Given the description of an element on the screen output the (x, y) to click on. 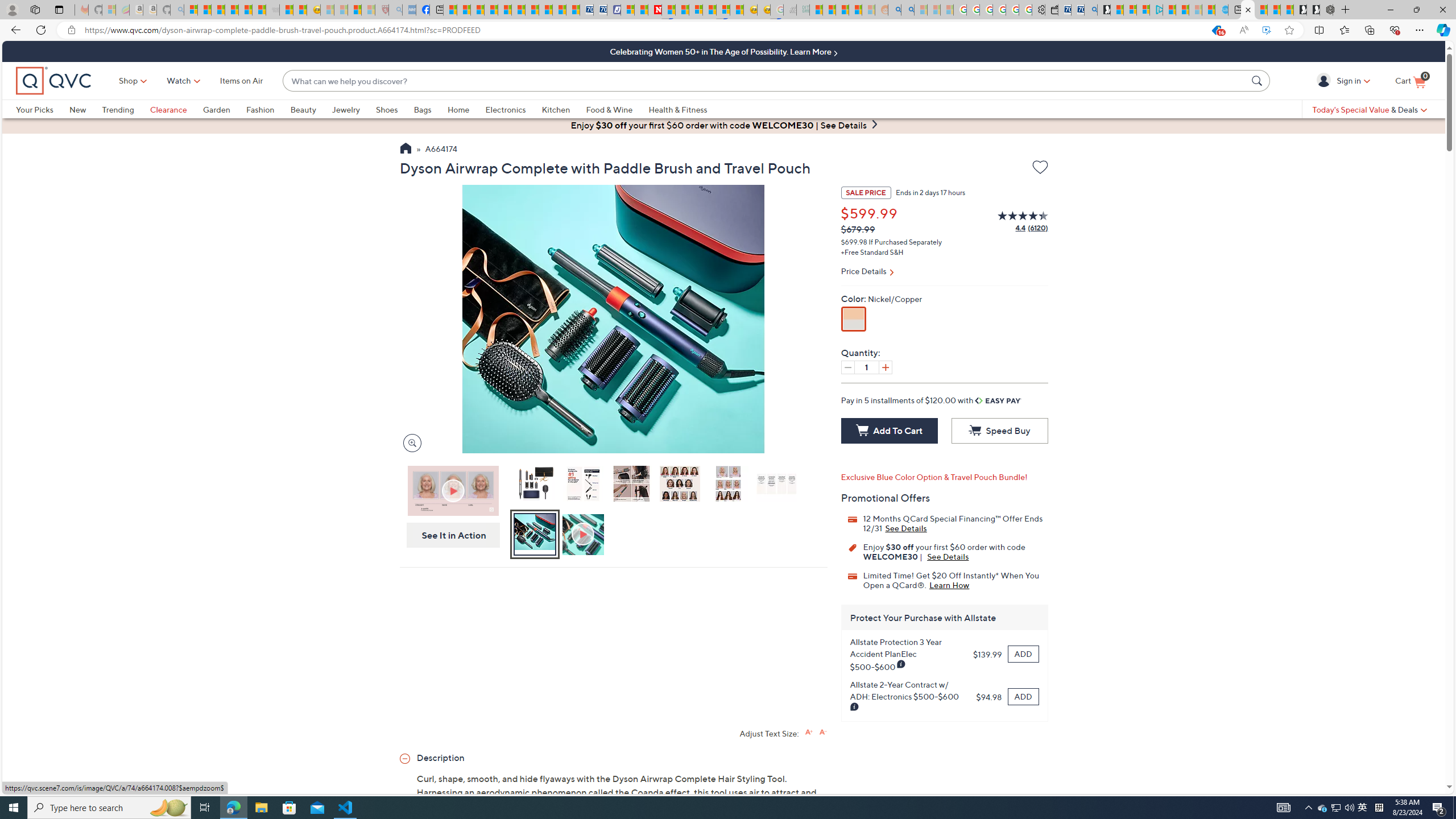
If Purchased Separately (904, 241)
Cheap Car Rentals - Save70.com (1077, 9)
Play Free Online Games | Games from Microsoft Start (1312, 9)
Clearance (168, 109)
Robert H. Shmerling, MD - Harvard Health - Sleeping (381, 9)
Celebrating Women 50+ in The Age of Possibility. Learn More (723, 51)
Items on Air (241, 80)
